Given the description of an element on the screen output the (x, y) to click on. 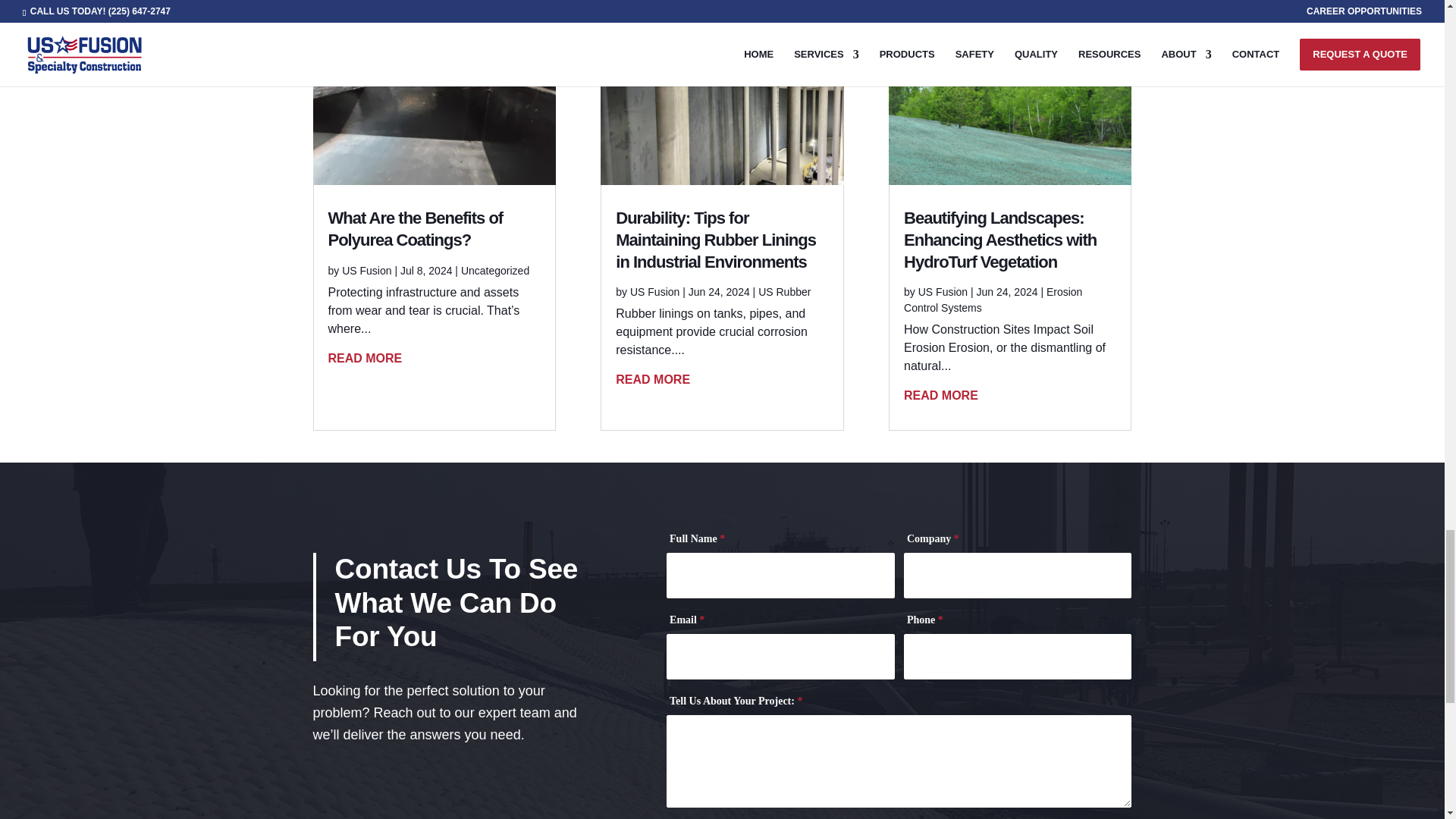
Posts by US Fusion (654, 291)
Posts by US Fusion (943, 291)
Posts by US Fusion (366, 270)
